Given the description of an element on the screen output the (x, y) to click on. 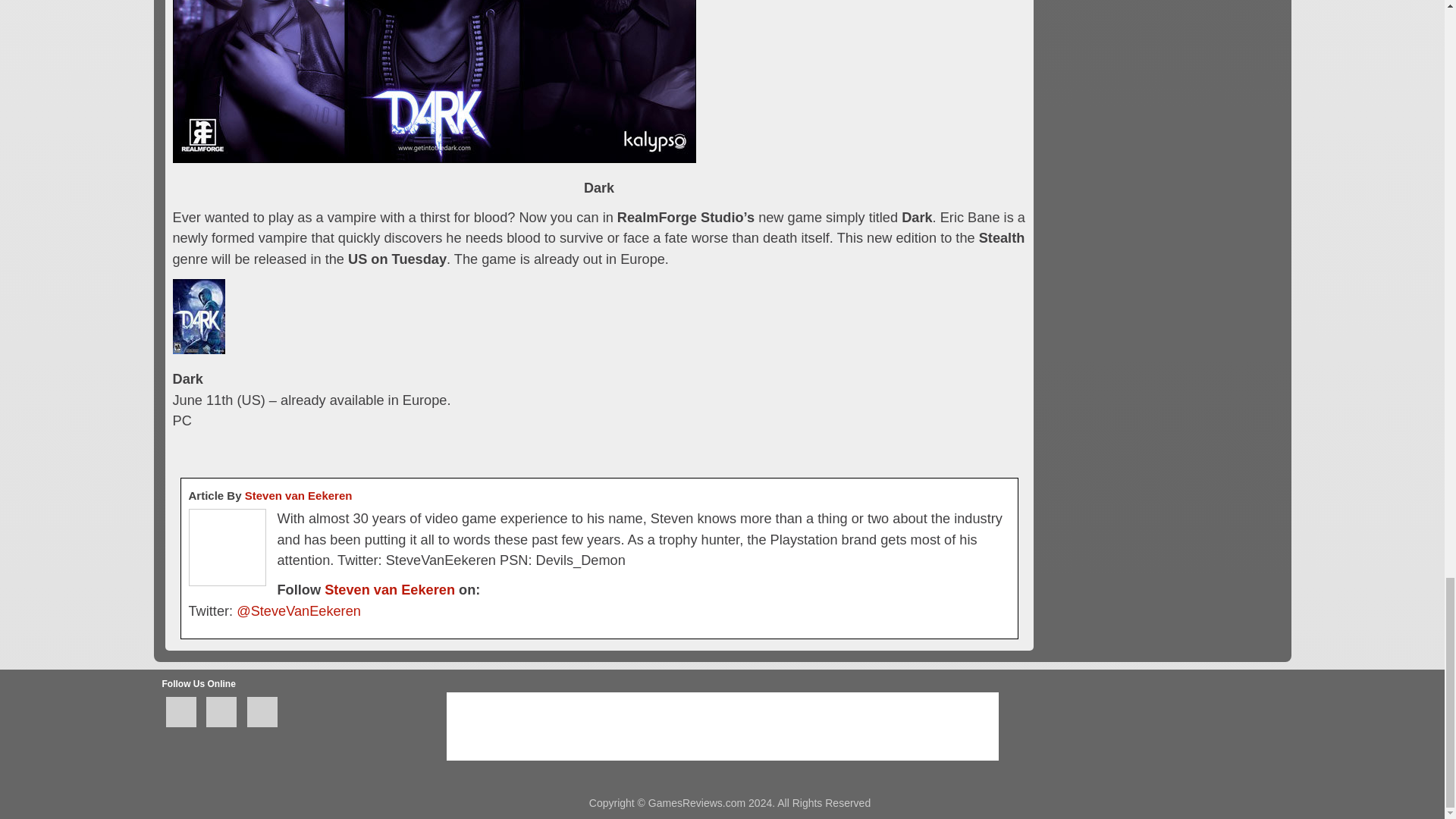
Posts by Steven van Eekeren (298, 495)
Posts by Steven van Eekeren (389, 589)
Follow Us On Twitter (220, 711)
Follow Us On Facebook (180, 711)
